Given the description of an element on the screen output the (x, y) to click on. 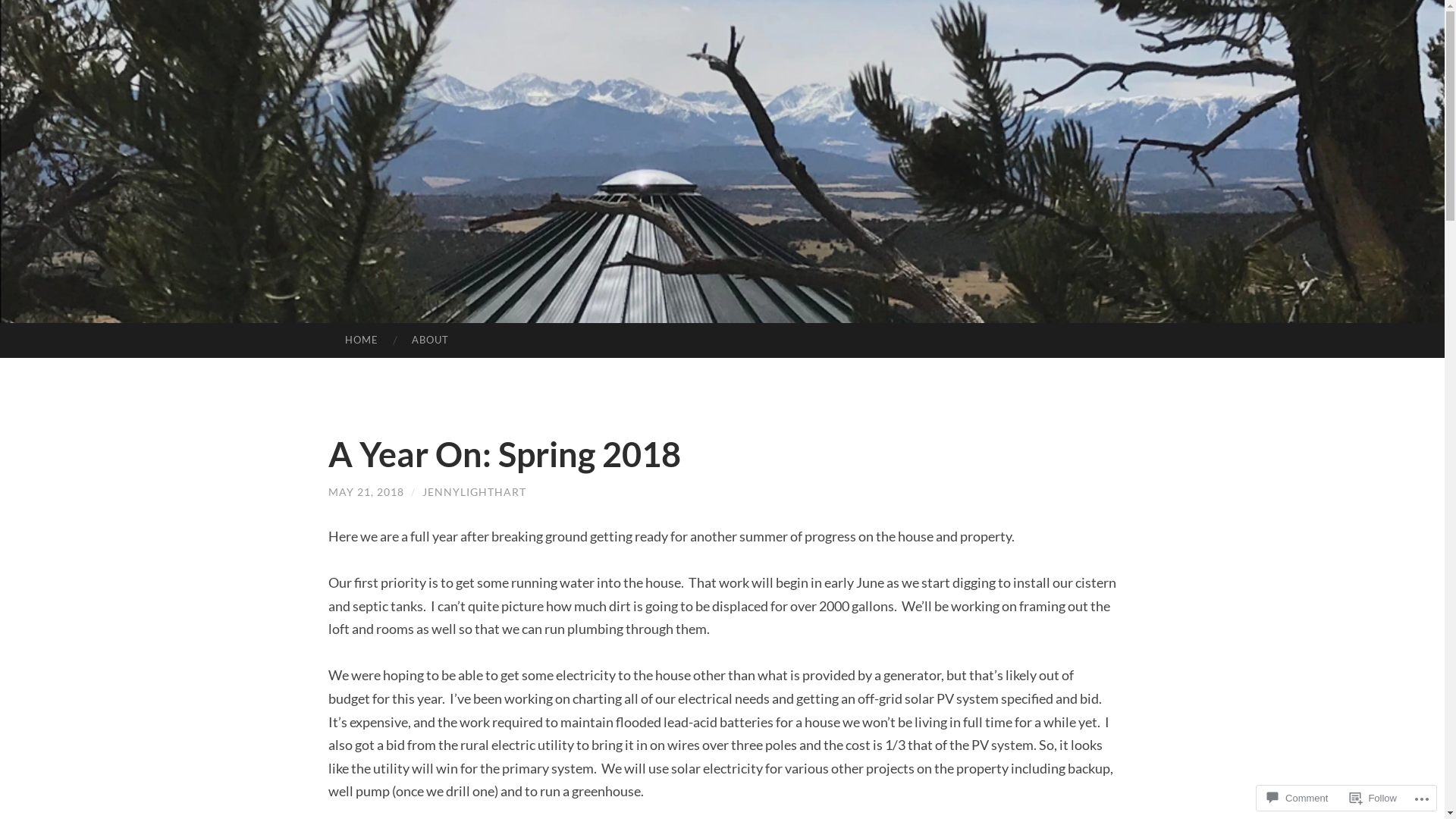
Comment Element type: text (1297, 797)
JENNYLIGHTHART Element type: text (473, 491)
ABOUT Element type: text (430, 340)
MAY 21, 2018 Element type: text (365, 491)
35 ON 40 Element type: text (768, 225)
Follow Element type: text (1372, 797)
HOME Element type: text (360, 340)
